Given the description of an element on the screen output the (x, y) to click on. 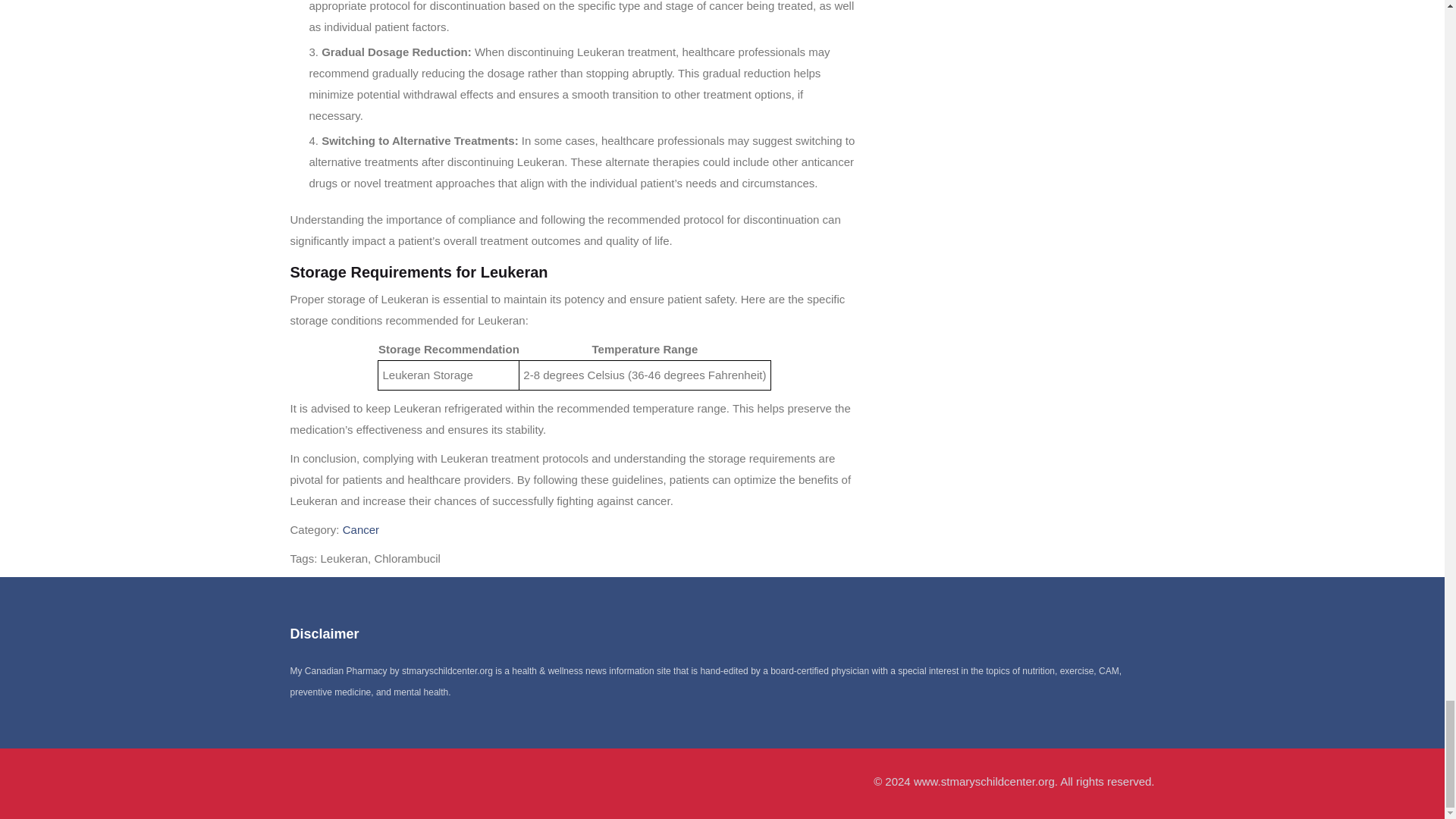
Cancer (360, 529)
